Given the description of an element on the screen output the (x, y) to click on. 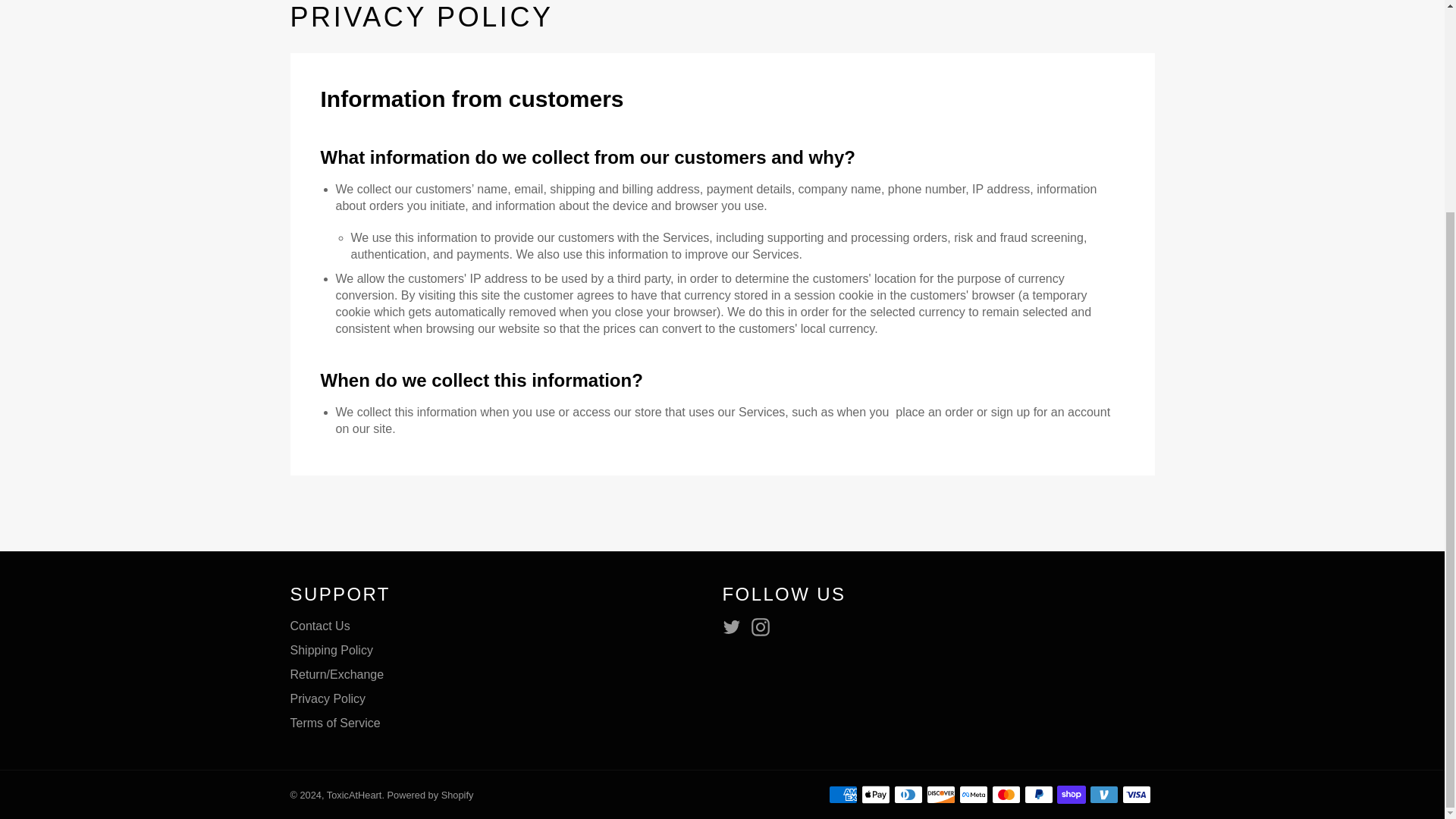
Instagram (764, 627)
ToxicAtHeart on Instagram (764, 627)
Shipping Policy (330, 649)
Powered by Shopify (430, 794)
ToxicAtHeart (353, 794)
Contact Us (319, 625)
Privacy Policy (327, 698)
ToxicAtHeart on Twitter (735, 627)
Twitter (735, 627)
Terms of Service (334, 722)
